Given the description of an element on the screen output the (x, y) to click on. 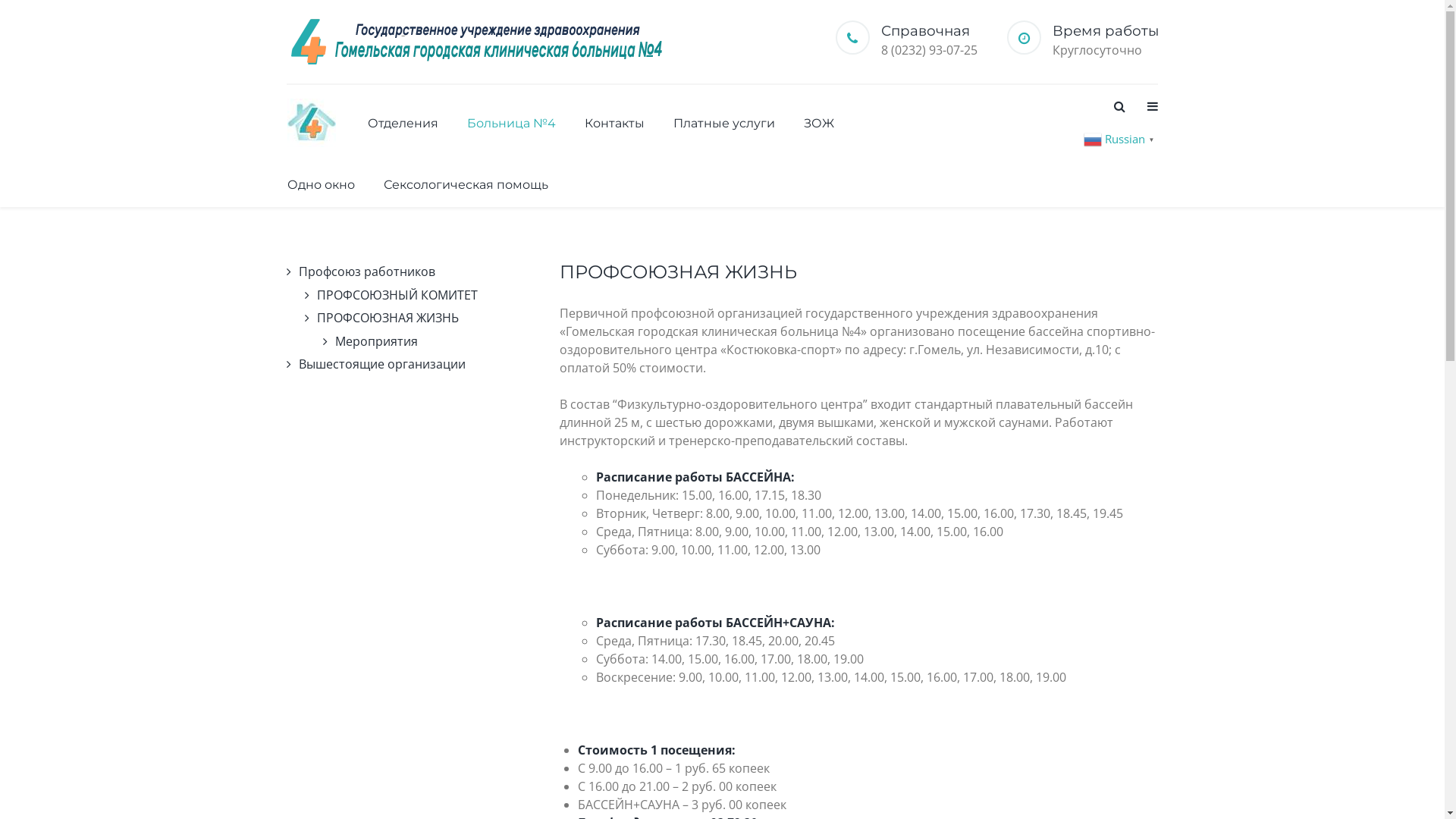
Medical Element type: hover (475, 41)
